Given the description of an element on the screen output the (x, y) to click on. 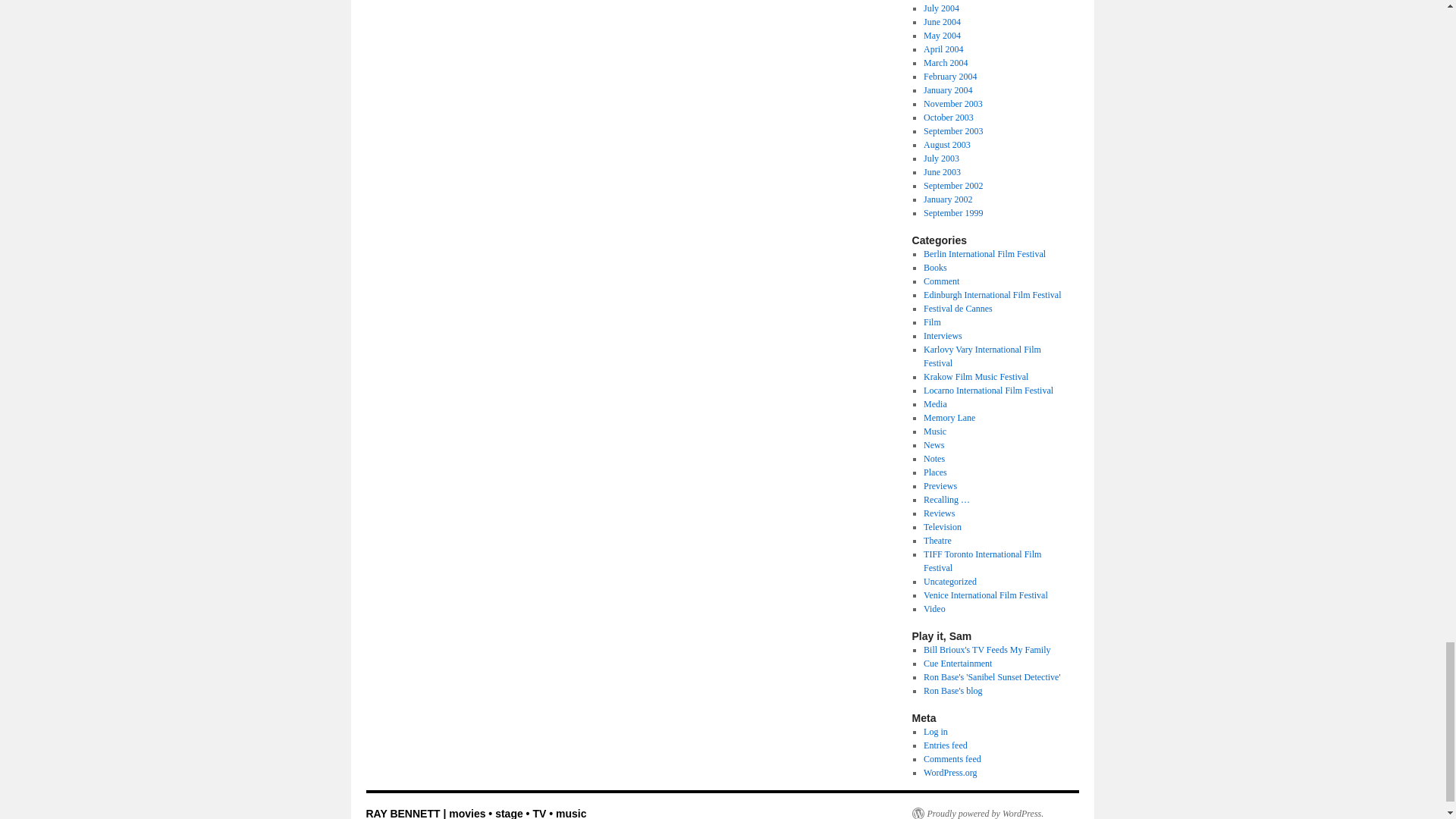
News and views from Canadian TV writer Bill Brioux (986, 649)
Novelist and screenwriter Ron Base presents his latest work. (991, 676)
